Given the description of an element on the screen output the (x, y) to click on. 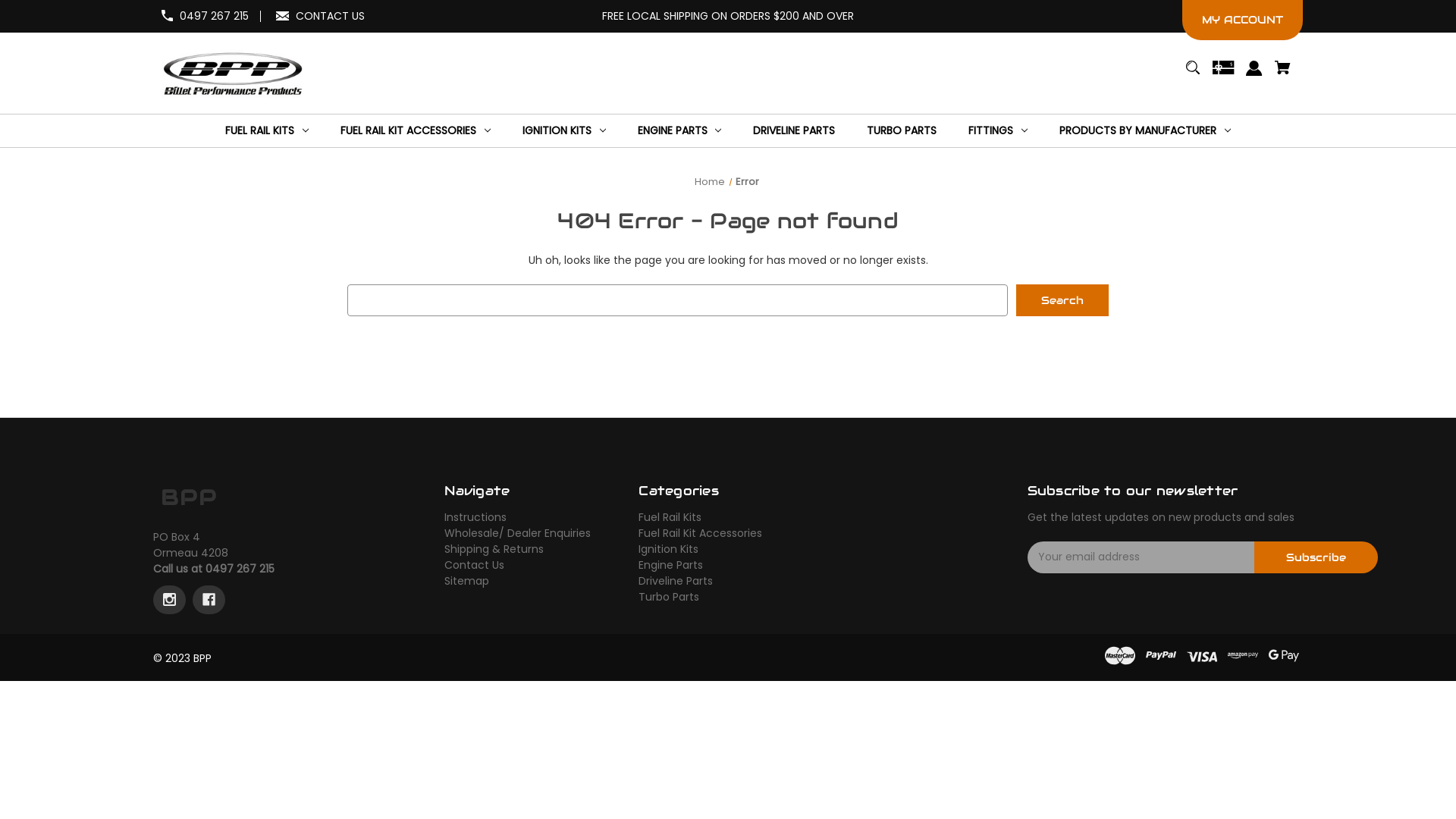
GIFT CARD IMAGE LARGE SQUARE BLACK IMAGE WITH A BOW ONTOP Element type: text (1222, 74)
CONTACT US Element type: text (329, 15)
MAGNIFYING GLASS IMAGE LARGE RED CIRCLE WITH A BLACK BORDER Element type: text (1192, 74)
TURBO PARTS Element type: text (901, 130)
Error Element type: text (747, 181)
Subscribe Element type: text (1315, 557)
Facebook Element type: hover (208, 599)
Contact Us Element type: text (474, 564)
DRIVELINE PARTS Element type: text (793, 130)
Ignition Kits Element type: text (668, 548)
MY ACCOUNT Element type: text (1242, 20)
Home Element type: text (709, 181)
Instructions Element type: text (475, 516)
BPP Element type: text (189, 497)
Fuel Rail Kit Accessories Element type: text (700, 532)
FUEL RAIL KITS Element type: text (266, 130)
Instagram Element type: hover (169, 599)
Wholesale/ Dealer Enquiries Element type: text (517, 532)
PRODUCTS BY MANUFACTURER Element type: text (1144, 130)
Sitemap Element type: text (466, 580)
ENGINE PARTS Element type: text (679, 130)
Turbo Parts Element type: text (668, 596)
Search Element type: text (1062, 300)
Fuel Rail Kits Element type: text (669, 516)
Driveline Parts Element type: text (675, 580)
FITTINGS Element type: text (997, 130)
0497 267 215 Element type: text (212, 15)
IGNITION KITS Element type: text (563, 130)
Shipping & Returns Element type: text (493, 548)
FUEL RAIL KIT ACCESSORIES Element type: text (415, 130)
Engine Parts Element type: text (670, 564)
BPP Element type: hover (231, 72)
